Given the description of an element on the screen output the (x, y) to click on. 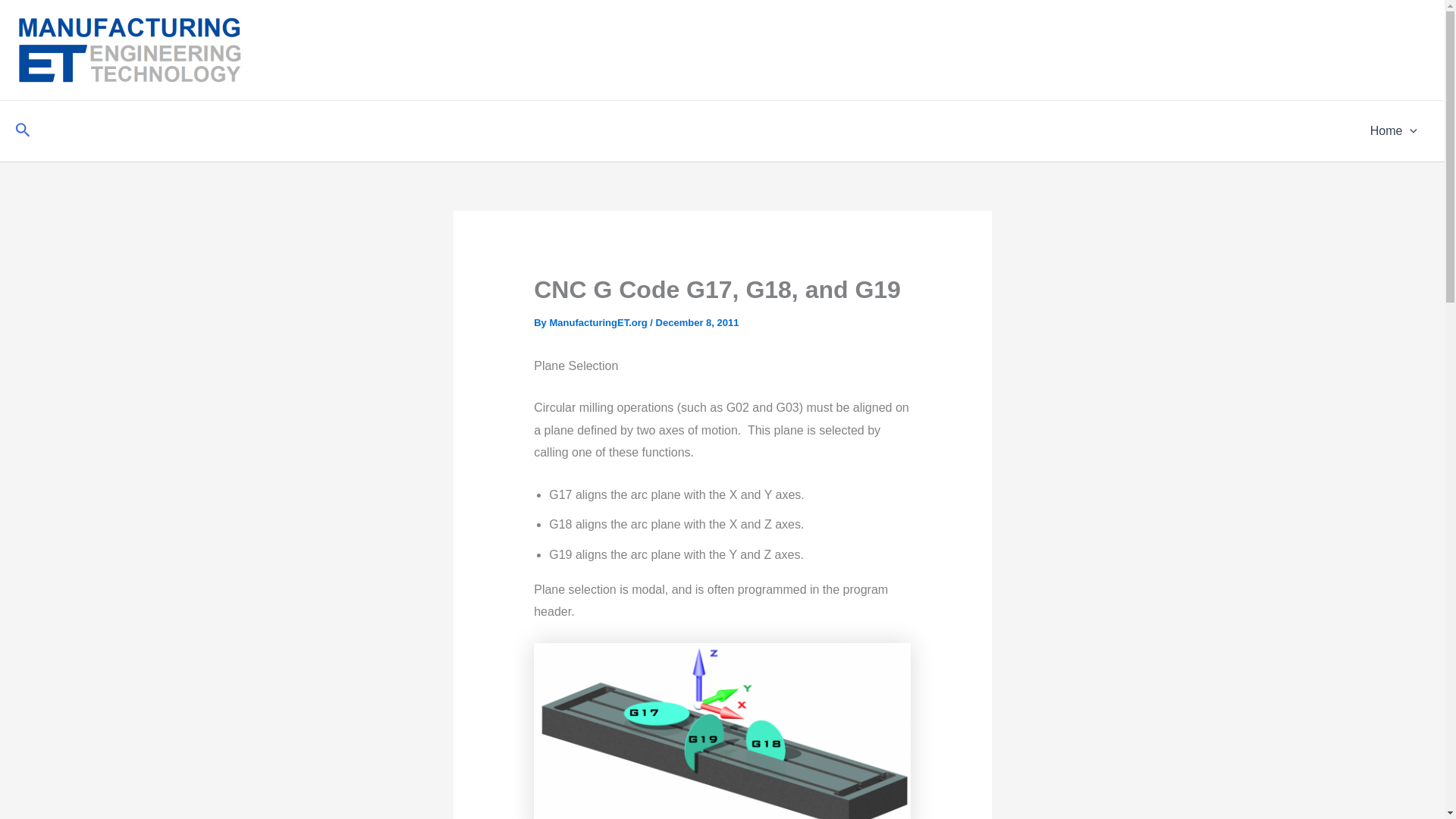
View all posts by ManufacturingET.org (598, 322)
Home (1393, 130)
